Given the description of an element on the screen output the (x, y) to click on. 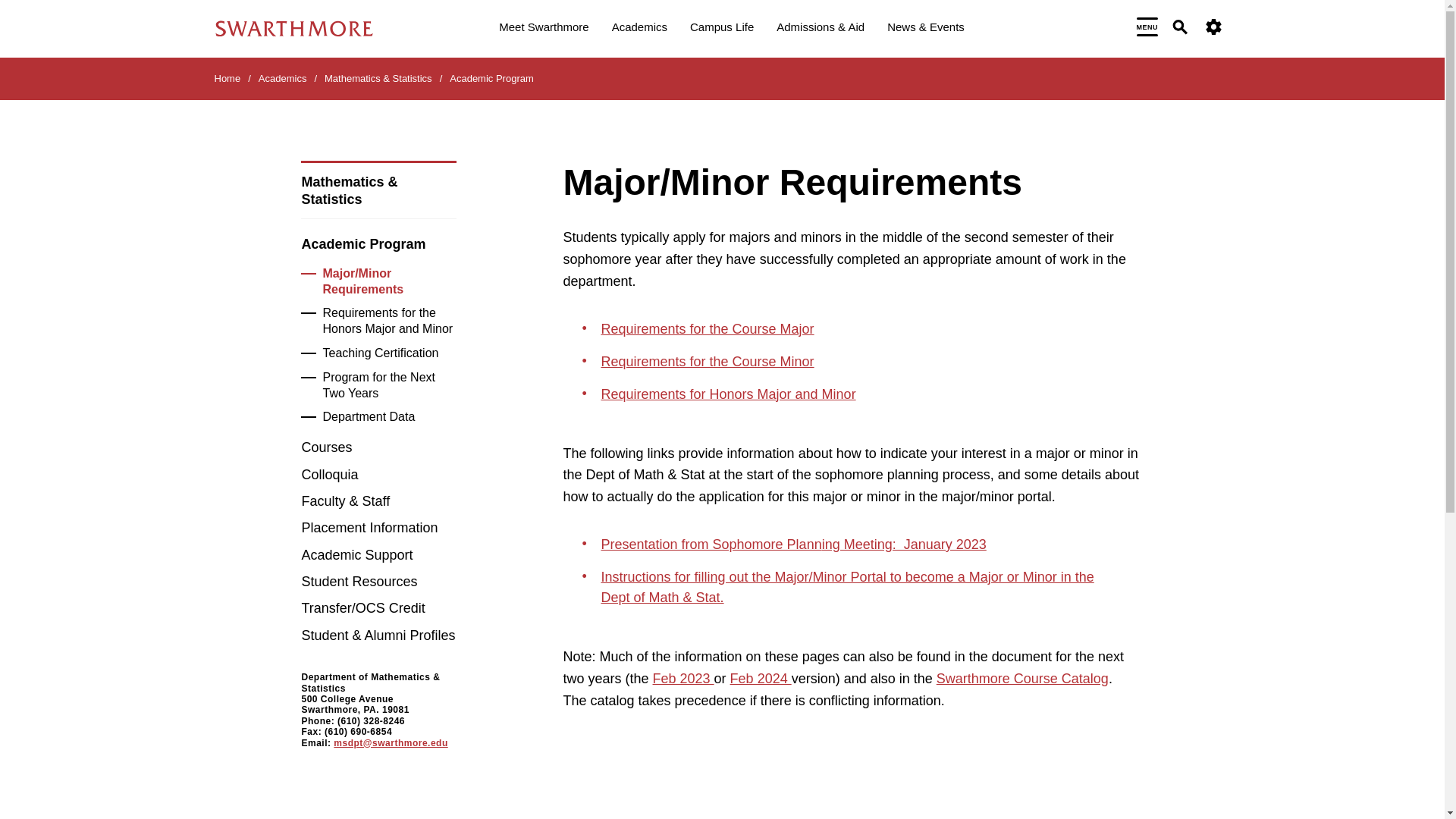
Campus Life (722, 28)
Meet Swarthmore (543, 28)
Academics (638, 28)
